Given the description of an element on the screen output the (x, y) to click on. 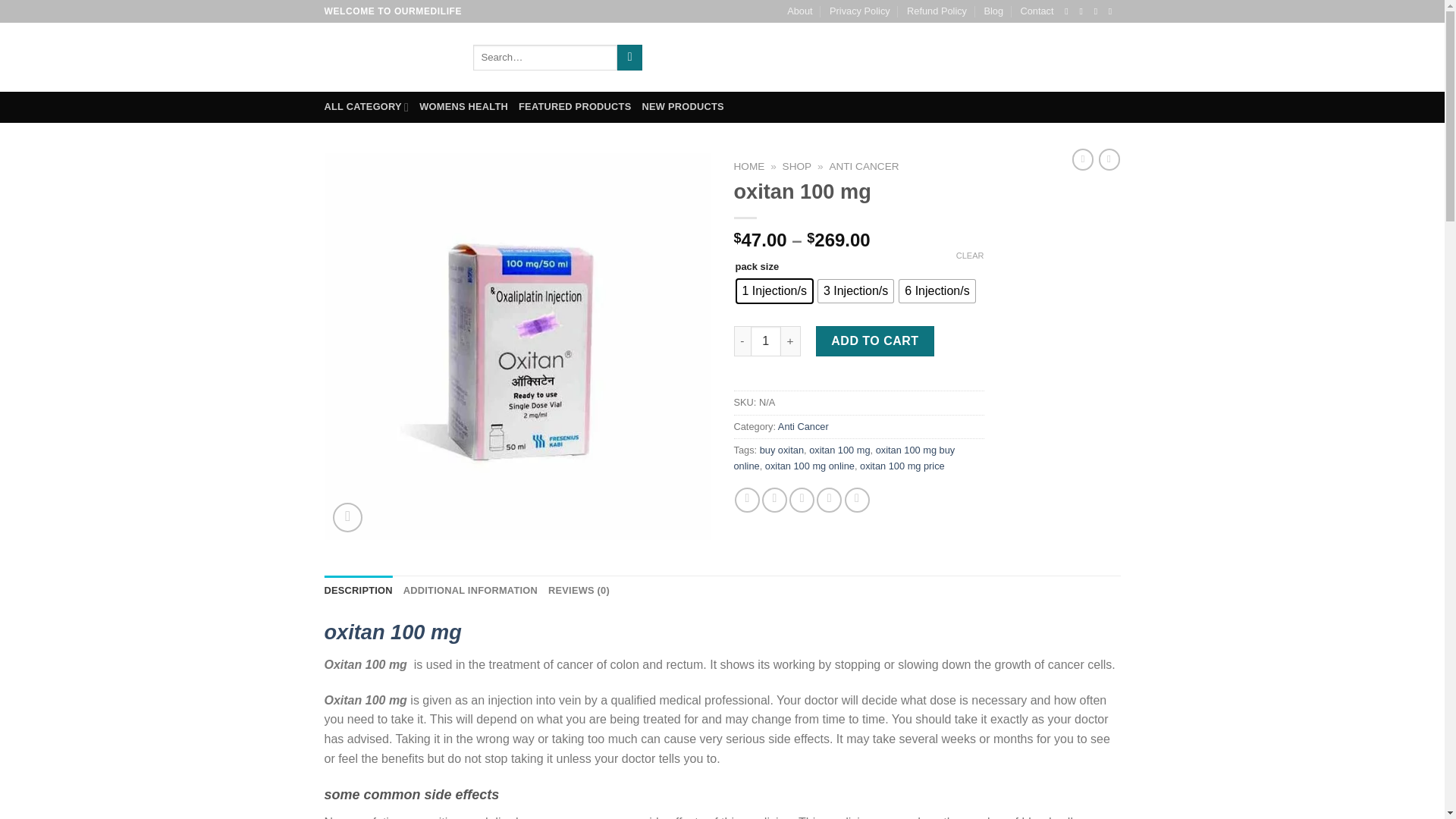
Search (629, 57)
Contact (1036, 11)
Share on Facebook (747, 499)
ALL CATEGORY (366, 106)
Pin on Pinterest (828, 499)
Privacy Policy (859, 11)
Our Medi Life - Best Pharmacy In World (386, 56)
Share on Twitter (774, 499)
About (799, 11)
LOGIN (991, 57)
Zoom (347, 517)
1 (765, 340)
Cart (1074, 57)
Refund Policy (936, 11)
